Given the description of an element on the screen output the (x, y) to click on. 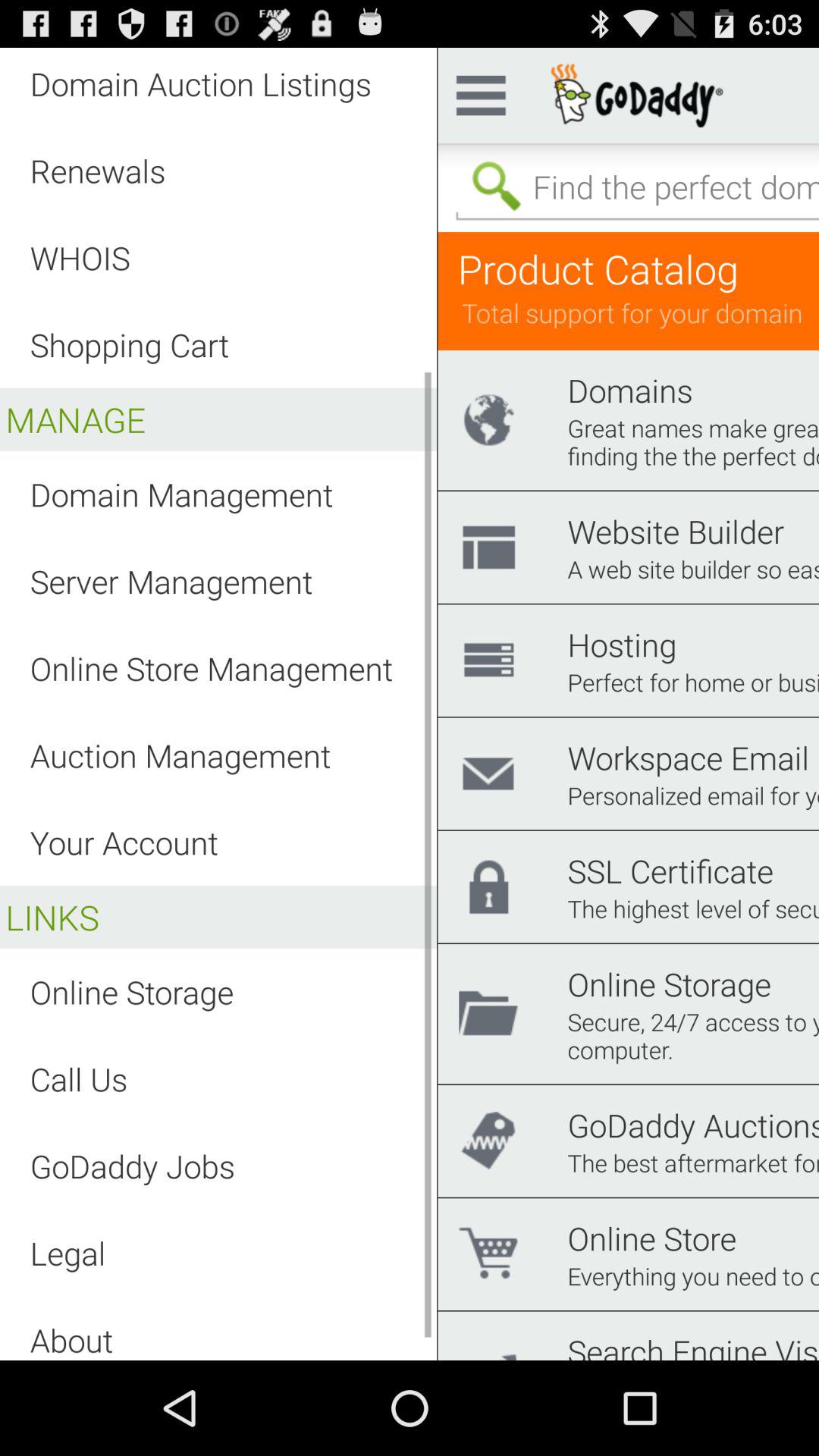
tap the item below the online store management app (180, 754)
